Given the description of an element on the screen output the (x, y) to click on. 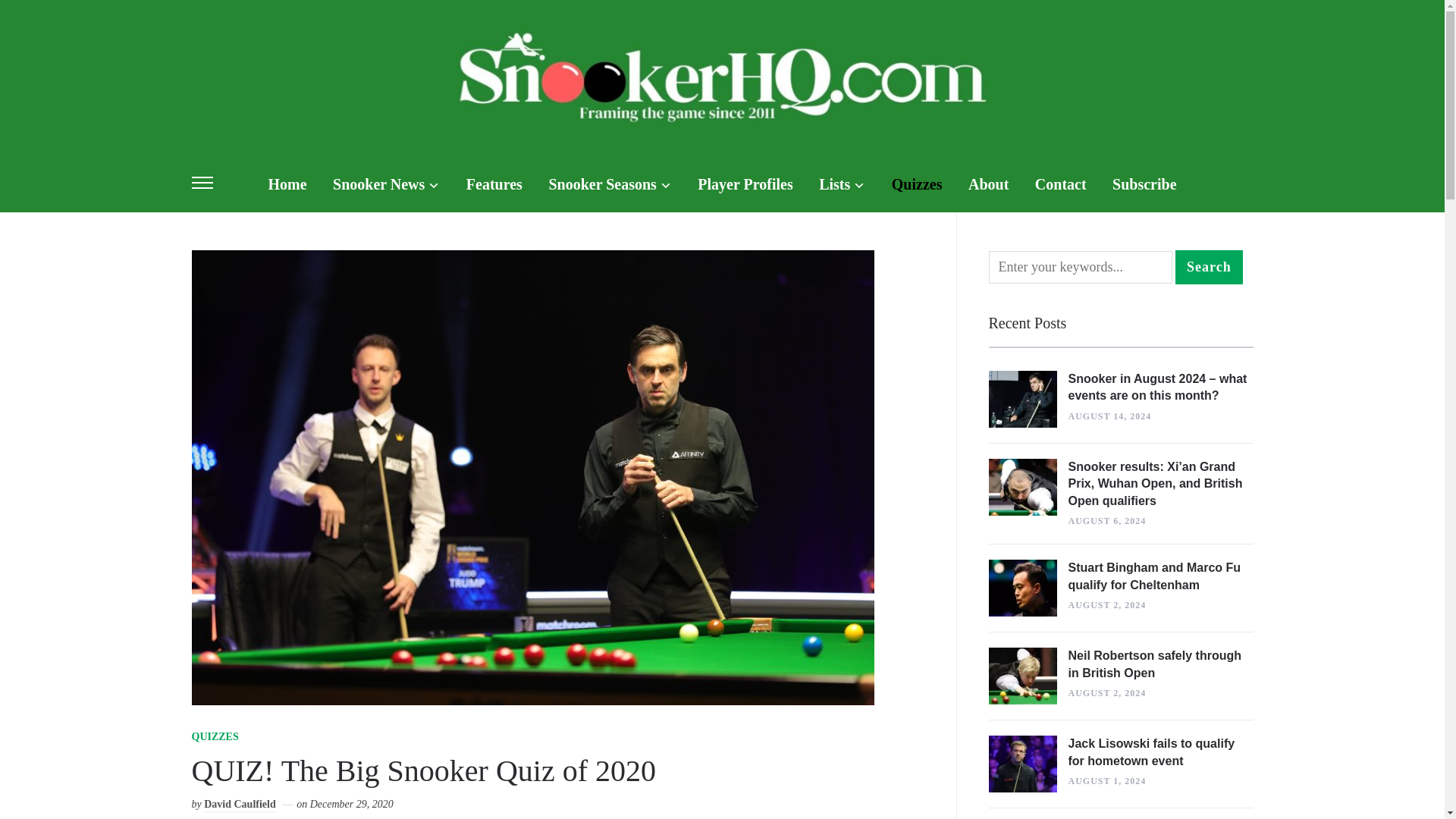
Search (1208, 267)
Search (1208, 267)
Posts by David Caulfield (239, 805)
